Given the description of an element on the screen output the (x, y) to click on. 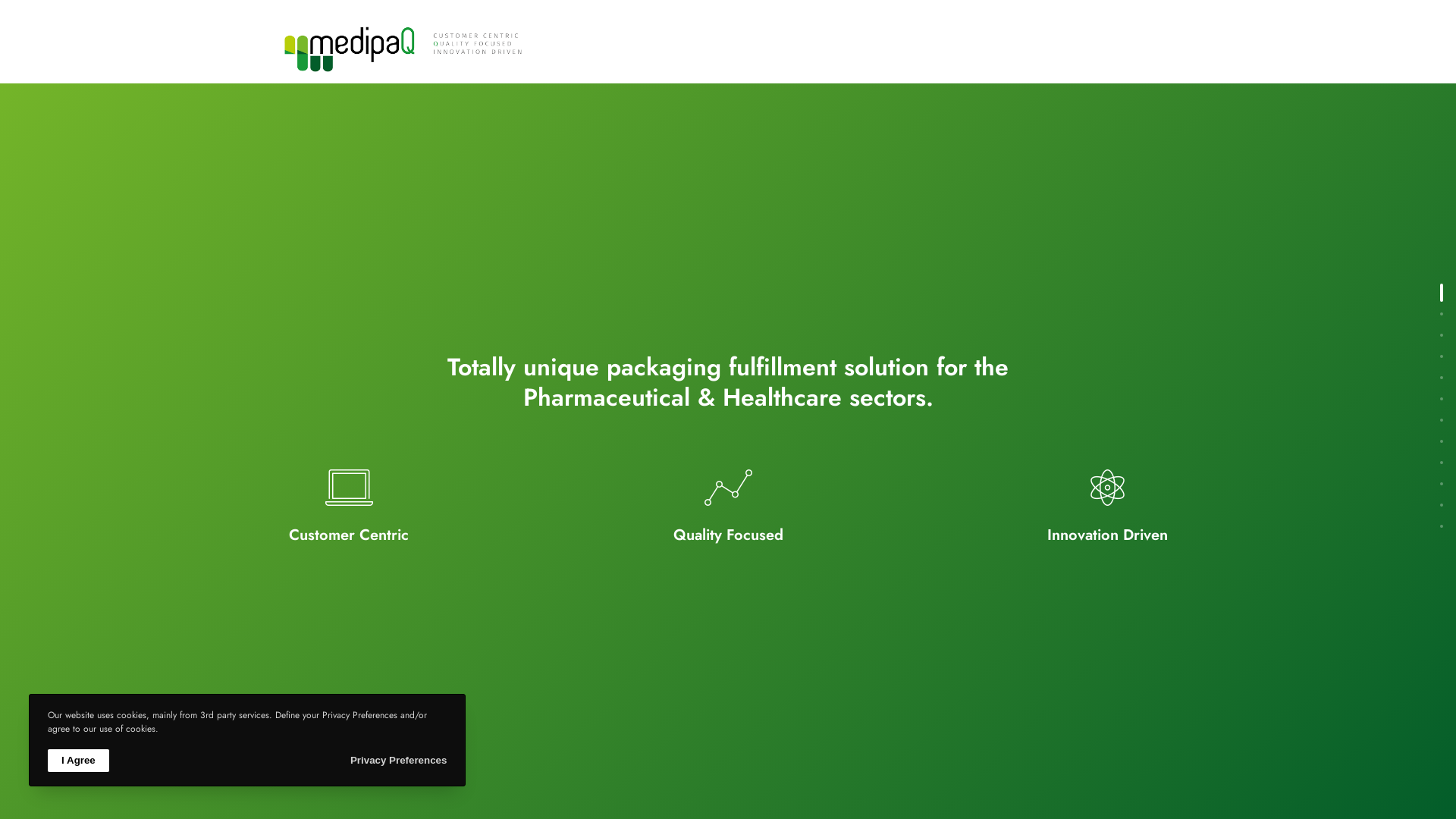
I Agree Element type: text (78, 760)
Privacy Preferences Element type: text (398, 760)
